Given the description of an element on the screen output the (x, y) to click on. 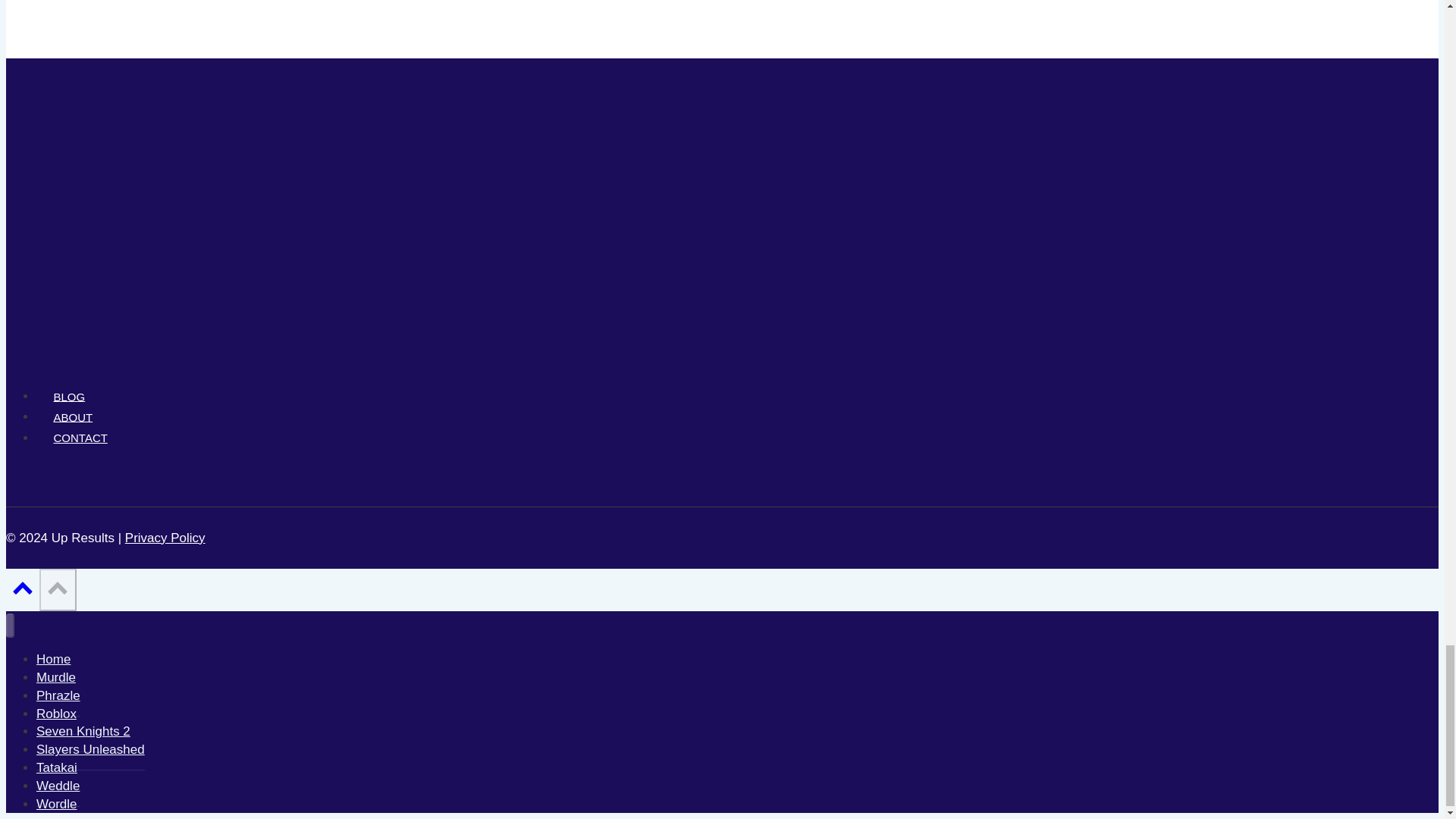
Scroll to top (22, 592)
Scroll to top (57, 586)
Scroll to top (22, 586)
